Given the description of an element on the screen output the (x, y) to click on. 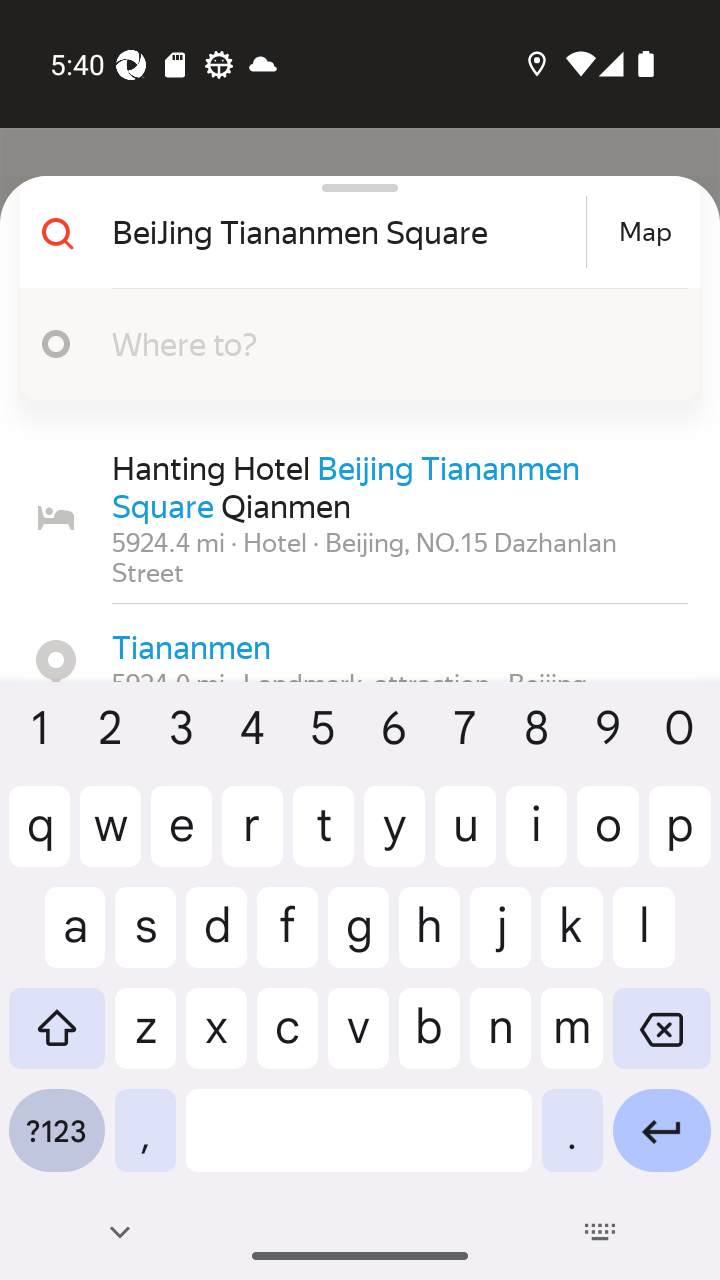
BeiJing Tiananmen Square Map Map (352, 232)
Map (645, 232)
BeiJing Tiananmen Square (346, 232)
Where to? (352, 343)
Where to? (390, 343)
